Given the description of an element on the screen output the (x, y) to click on. 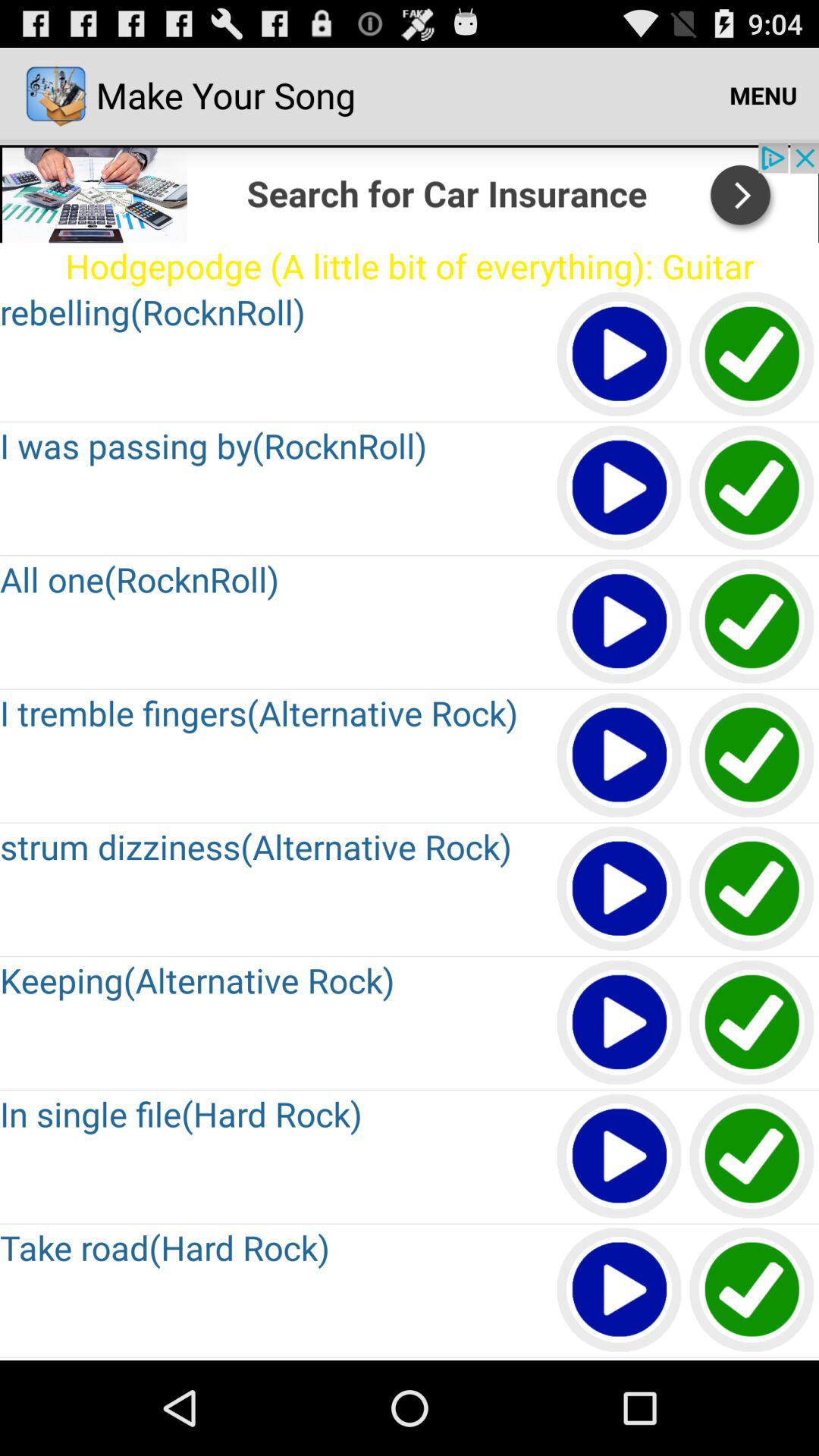
share (409, 192)
